Given the description of an element on the screen output the (x, y) to click on. 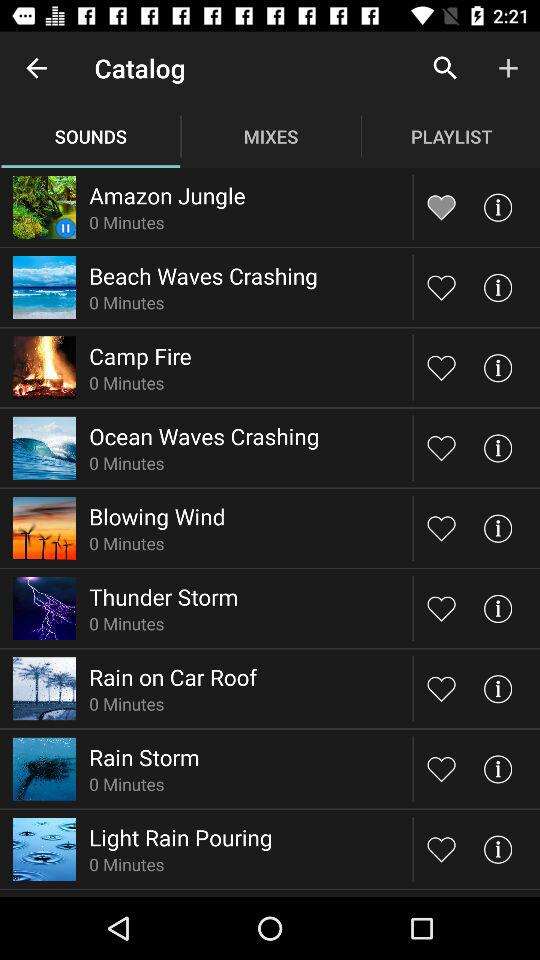
tap the icon to the right of mixes item (444, 67)
